Given the description of an element on the screen output the (x, y) to click on. 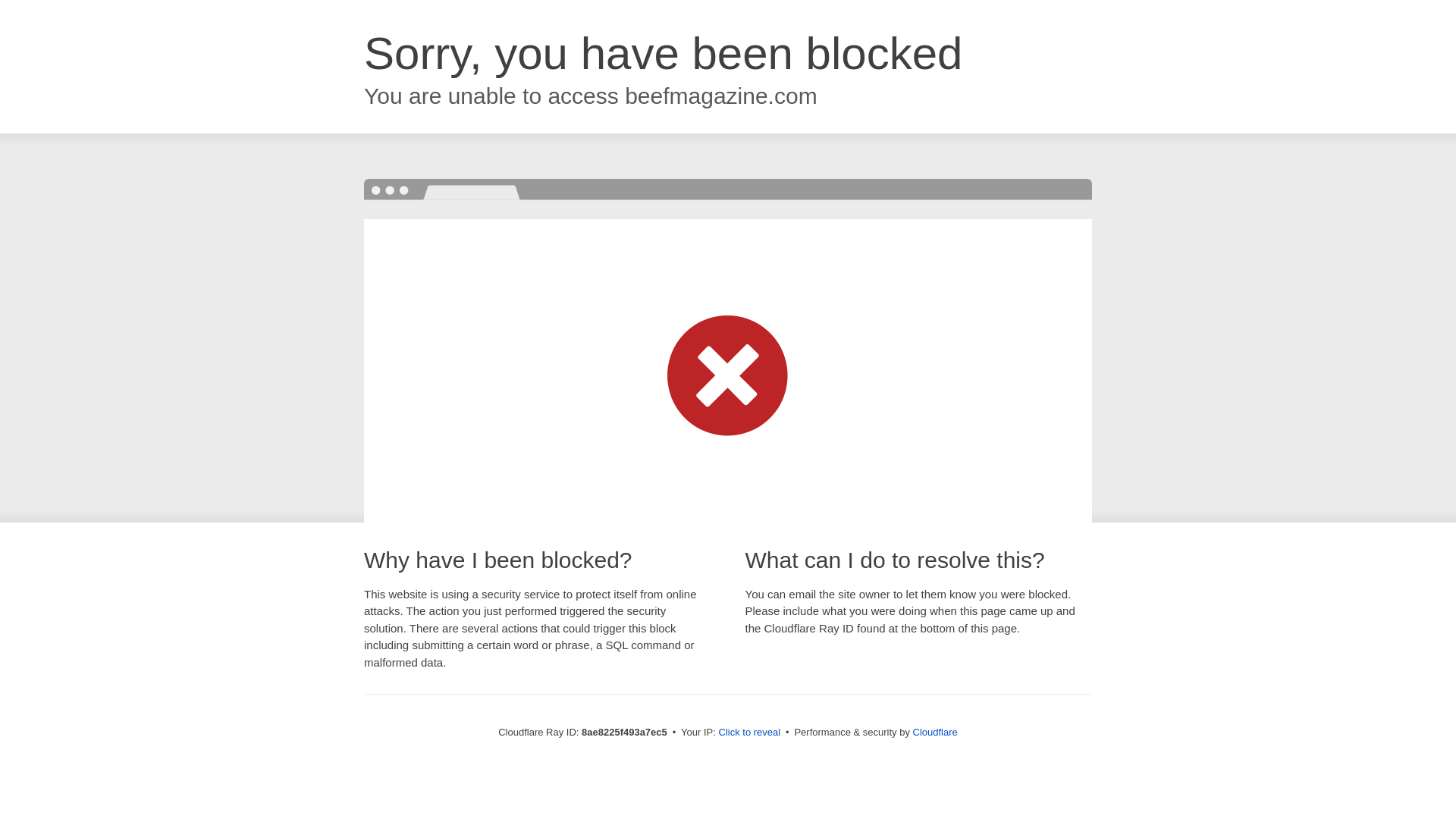
Click to reveal (749, 732)
Cloudflare (935, 731)
